Given the description of an element on the screen output the (x, y) to click on. 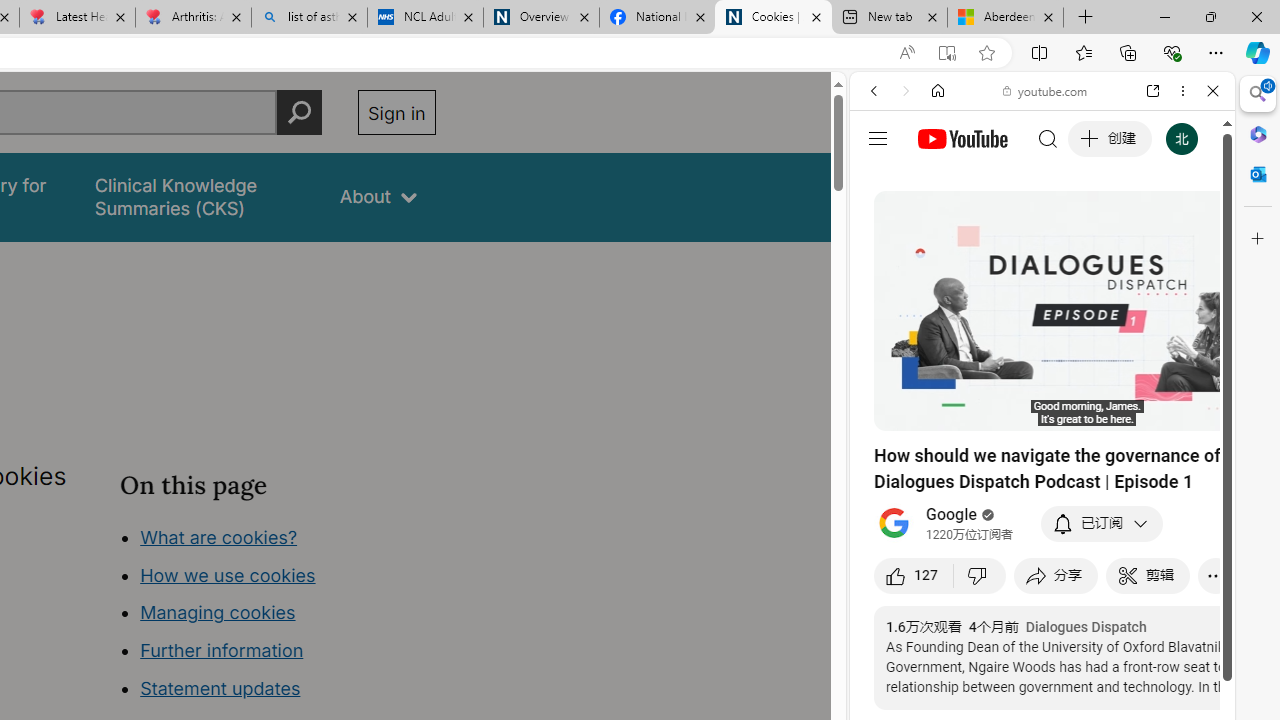
Google (952, 515)
SEARCH TOOLS (1093, 228)
Global web icon (888, 288)
Music (1042, 543)
Trailer #2 [HD] (1042, 592)
NCL Adult Asthma Inhaler Choice Guideline (424, 17)
About (378, 196)
#you (1042, 445)
Search Filter, WEB (882, 228)
Statement updates (219, 688)
